Given the description of an element on the screen output the (x, y) to click on. 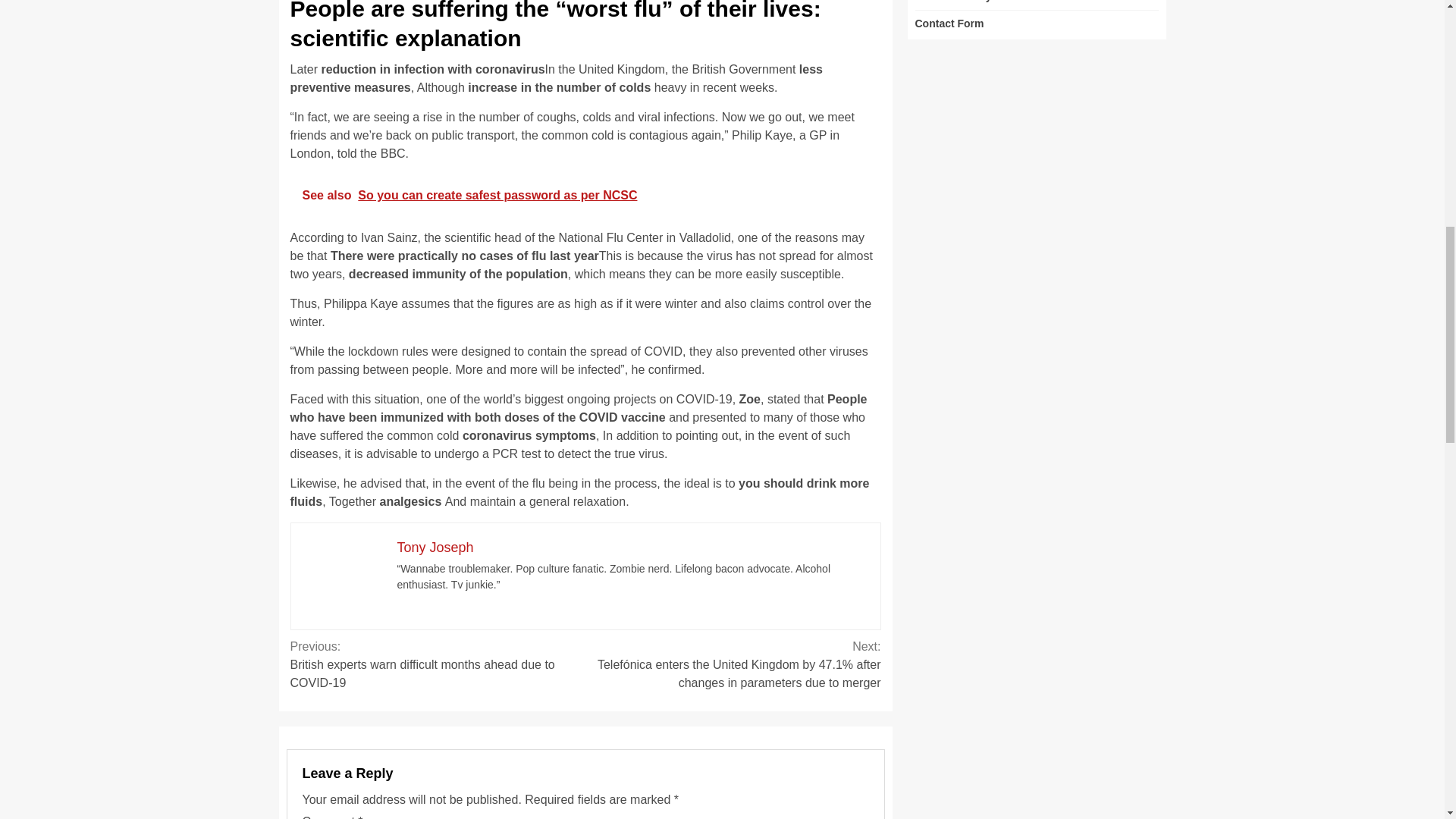
See also  So you can create safest password as per NCSC (584, 195)
Tony Joseph (435, 547)
